Given the description of an element on the screen output the (x, y) to click on. 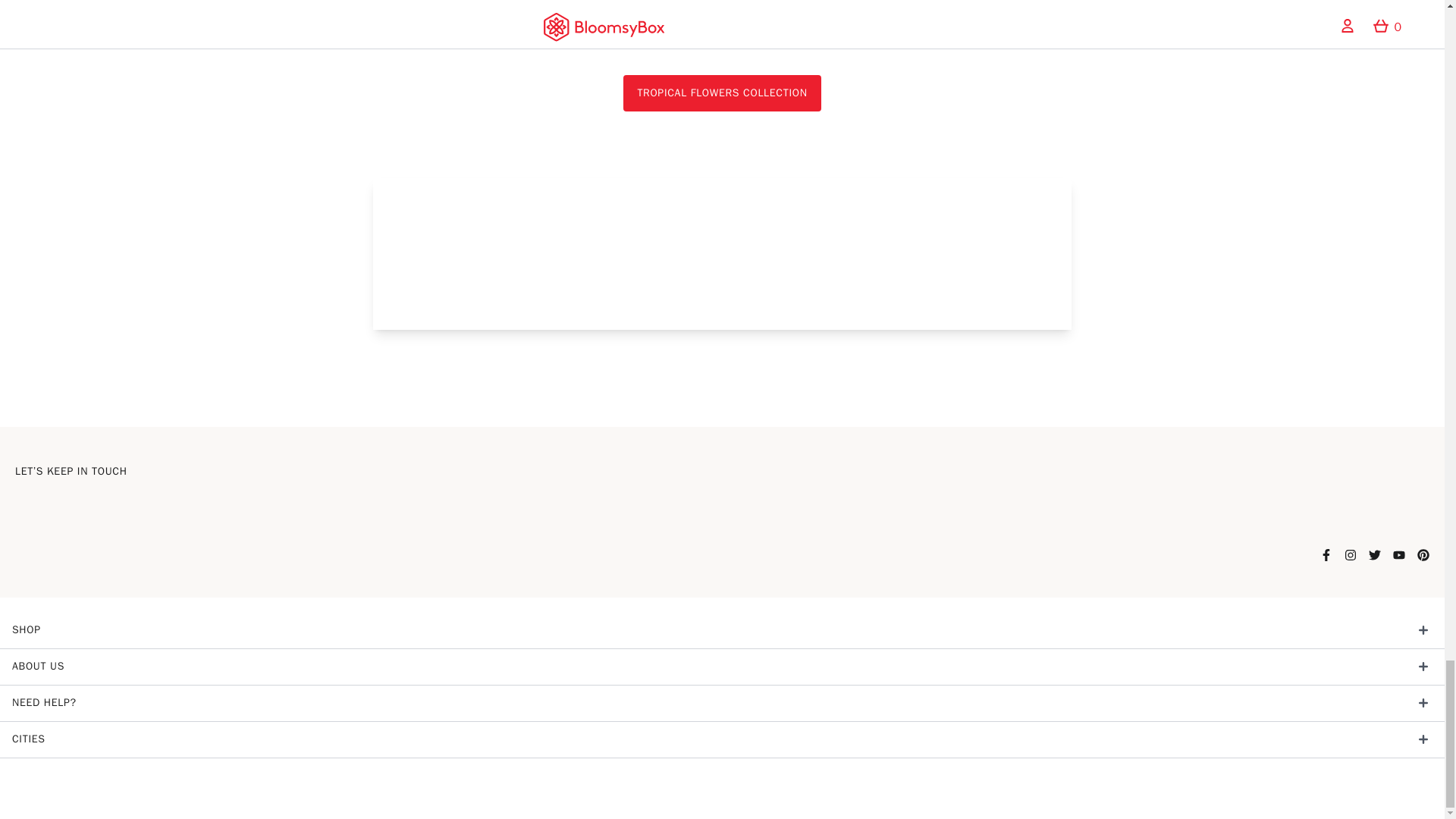
YouTube (1399, 554)
Facebook (1326, 554)
TROPICAL FLOWERS COLLECTION (722, 93)
Instagram (1349, 554)
Twitter (1374, 554)
Pinterest (1422, 554)
